Given the description of an element on the screen output the (x, y) to click on. 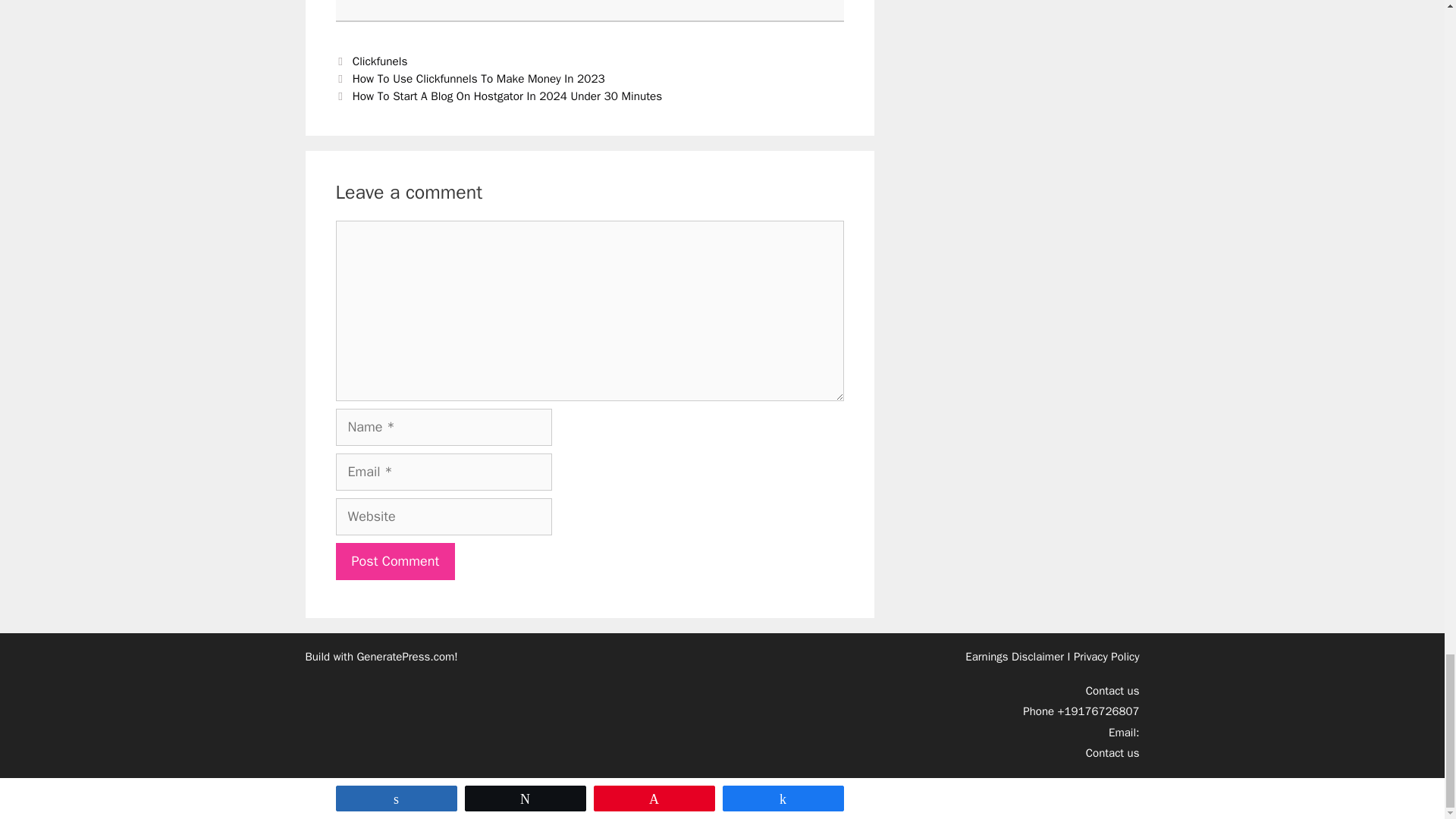
Post Comment (394, 560)
